Given the description of an element on the screen output the (x, y) to click on. 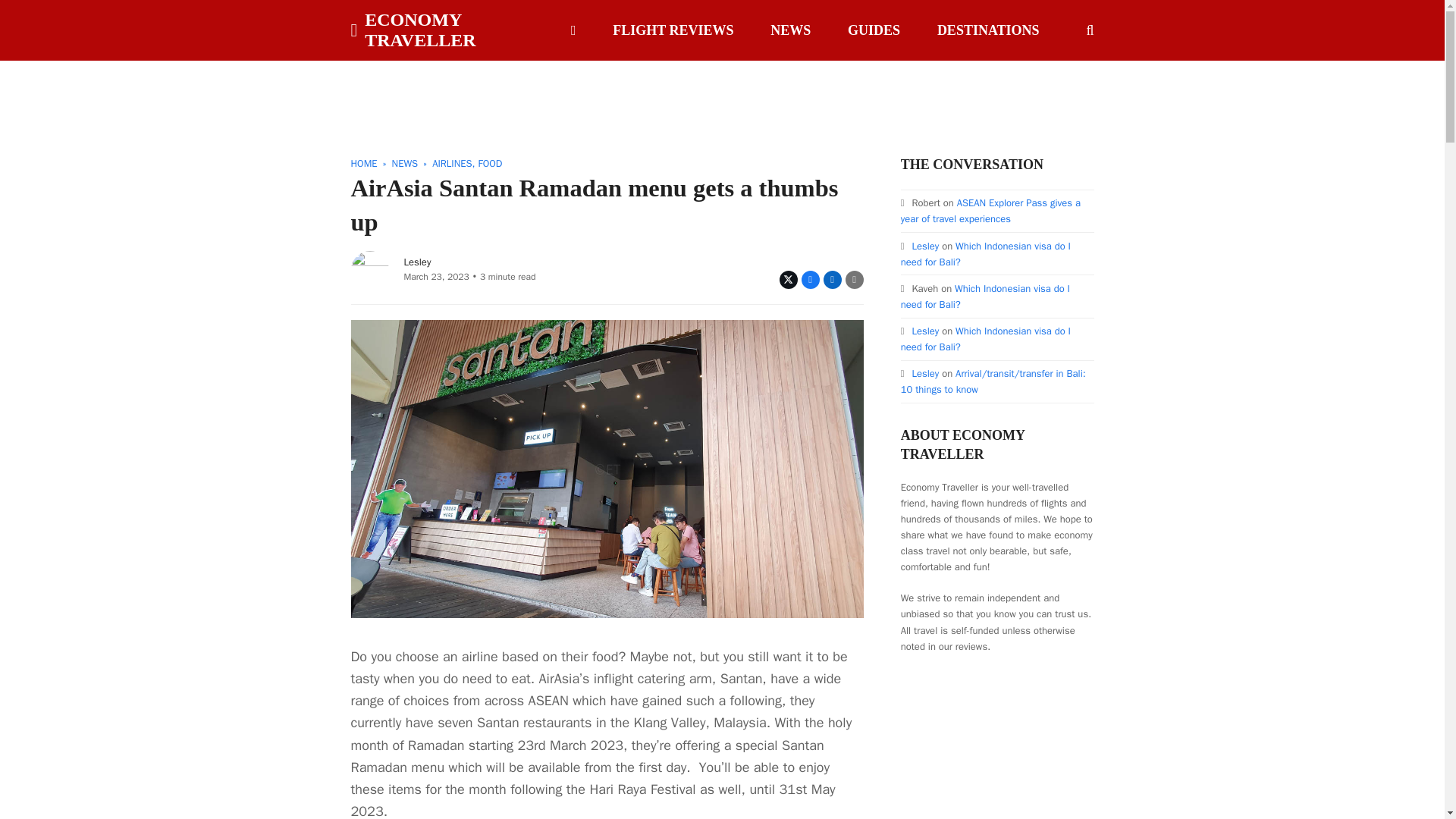
FLIGHT REVIEWS (672, 29)
HOME (363, 163)
FOOD (489, 163)
Share via Email (854, 280)
GUIDES (873, 29)
NEWS (405, 163)
NEWS (790, 29)
DESTINATIONS (988, 29)
Lesley (416, 261)
Share on LinkedIn (832, 280)
